Given the description of an element on the screen output the (x, y) to click on. 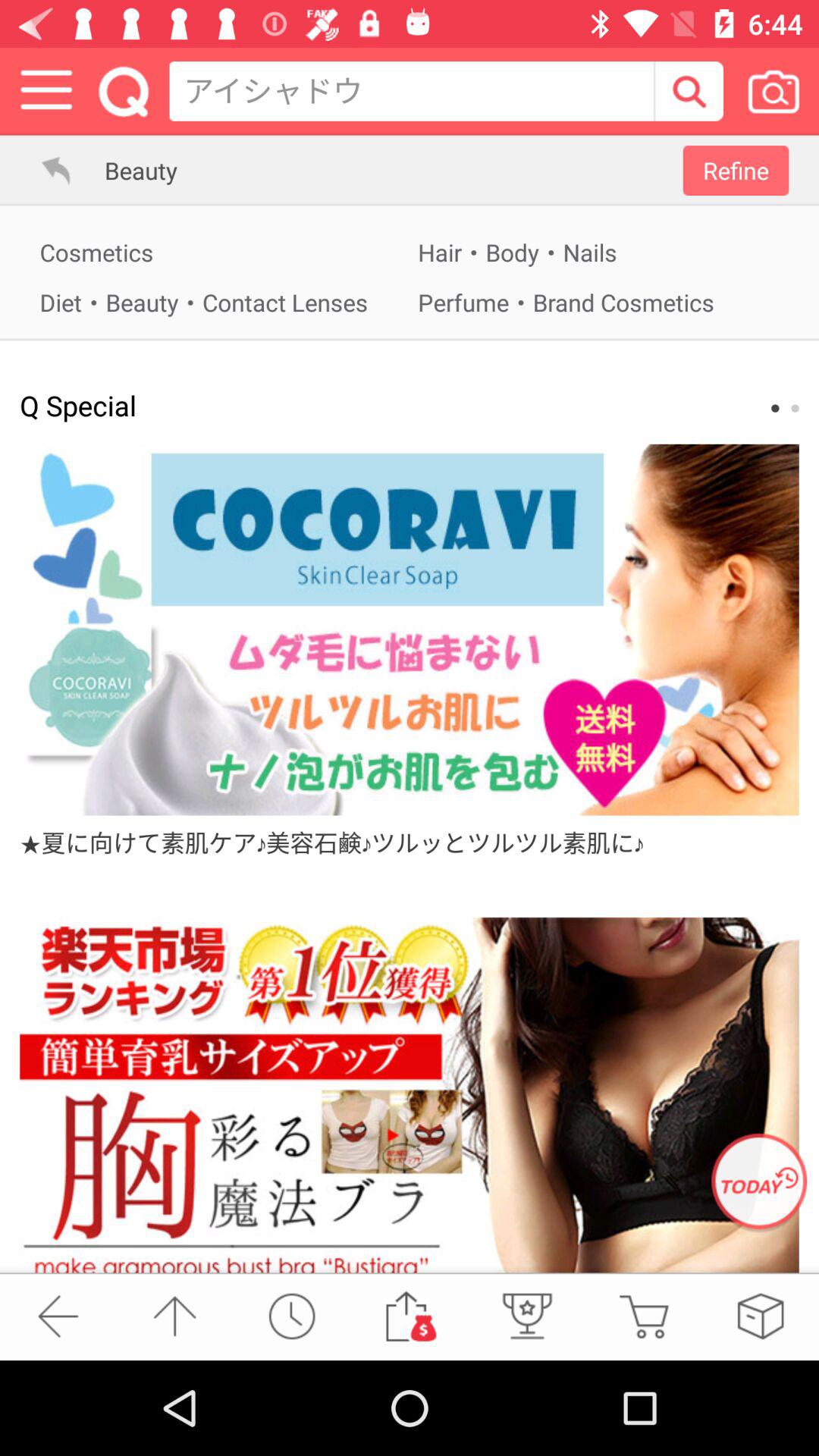
toggle camera on option (773, 91)
